Given the description of an element on the screen output the (x, y) to click on. 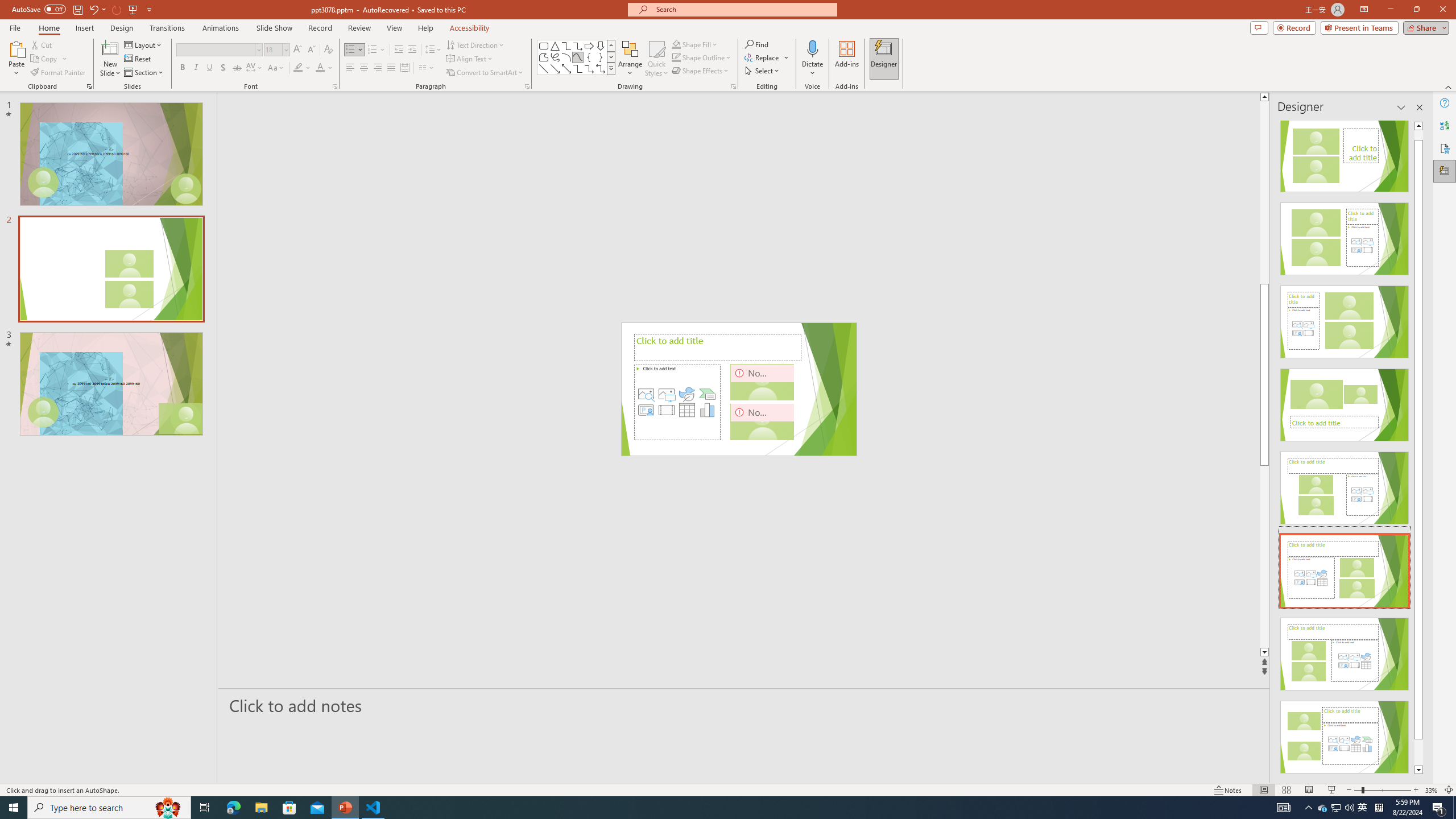
Insert Cameo (646, 409)
Zoom 33% (1431, 790)
Insert Table (686, 409)
